Given the description of an element on the screen output the (x, y) to click on. 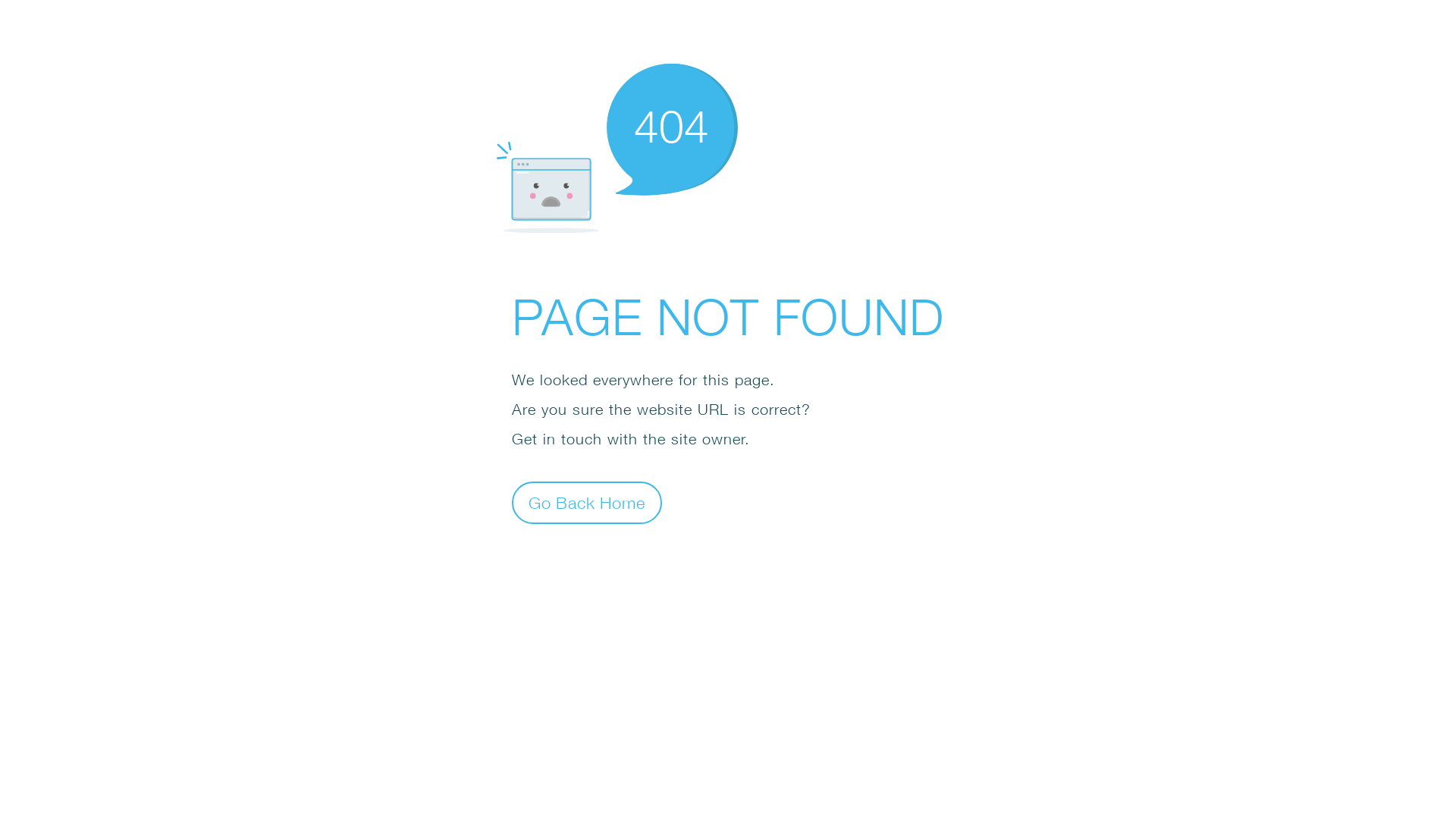
Go Back Home Element type: text (586, 502)
